Given the description of an element on the screen output the (x, y) to click on. 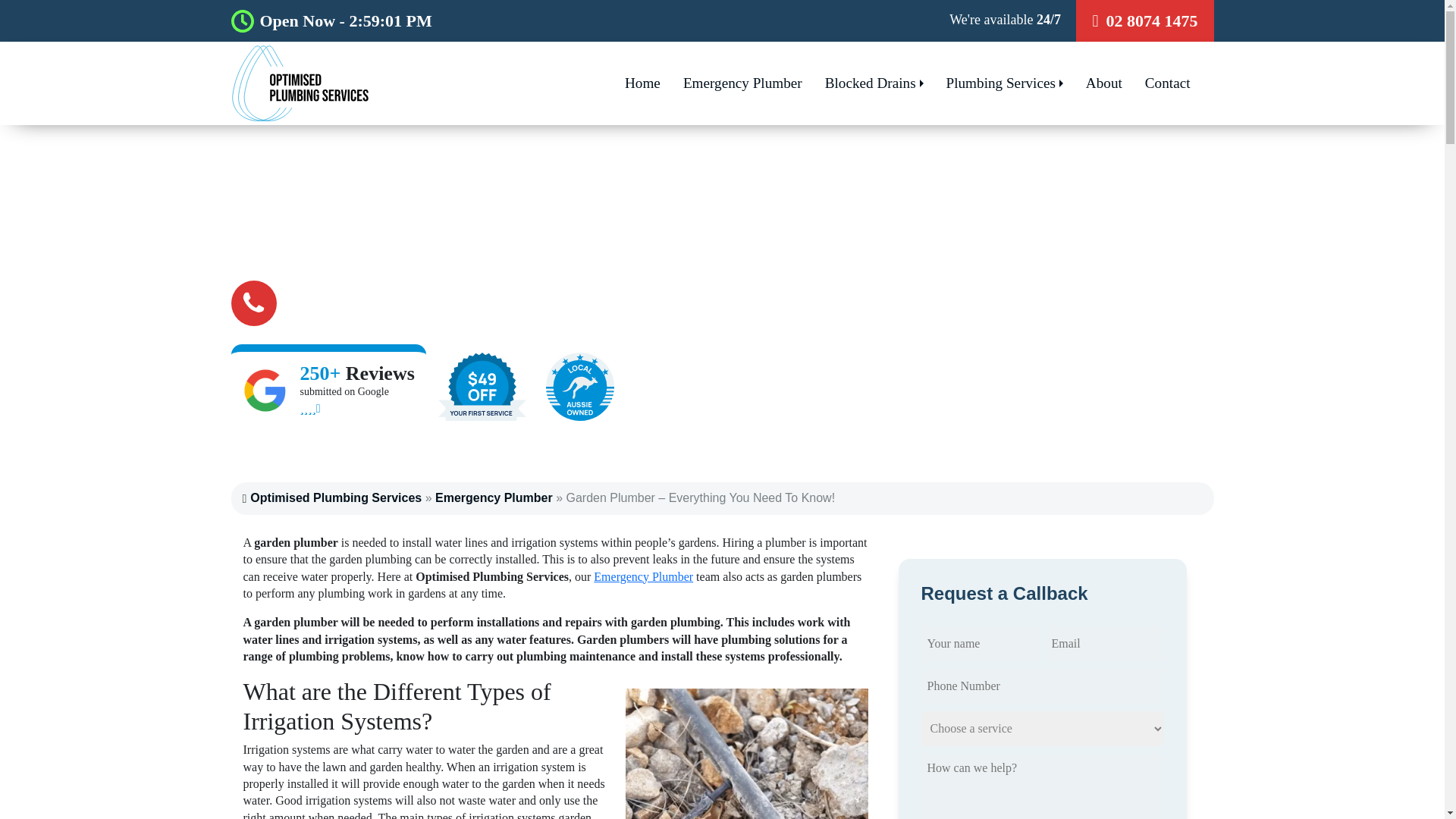
Blocked Drains (873, 83)
Home (641, 83)
Contact (1168, 83)
Plumbing Services (1004, 83)
Optimised Plumbing Services (336, 497)
Call 02 8074 1475 (373, 301)
About (1104, 83)
Emergency Plumber (494, 497)
Emergency Plumber (742, 83)
02 8074 1475 (1143, 20)
